Given the description of an element on the screen output the (x, y) to click on. 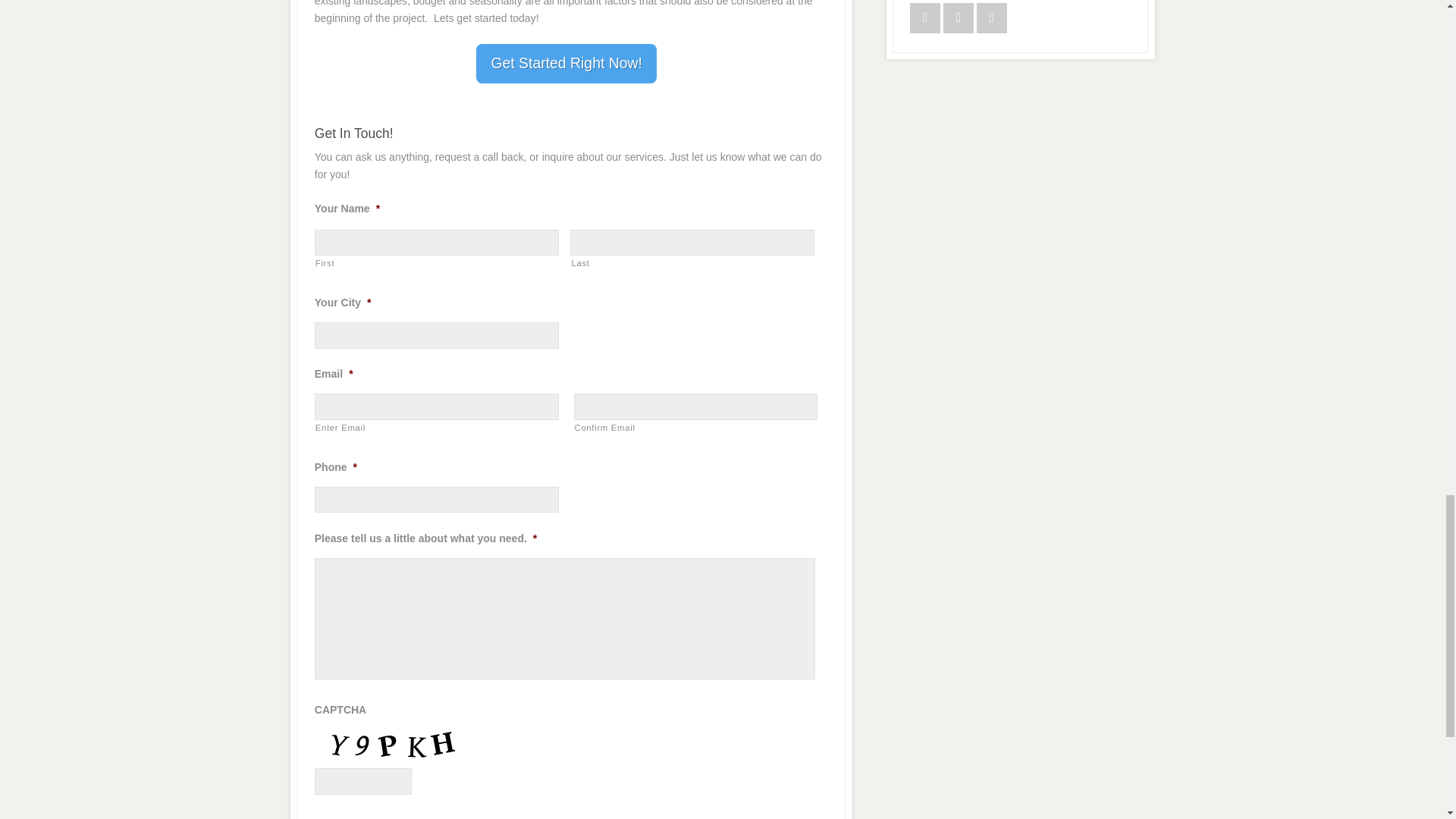
Get Started Right Now! (566, 63)
